Given the description of an element on the screen output the (x, y) to click on. 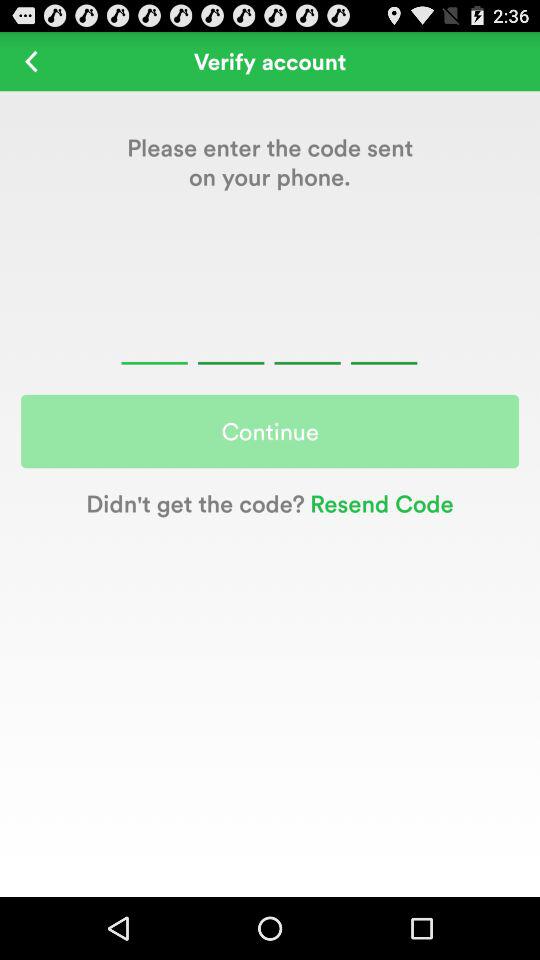
go back (31, 60)
